Given the description of an element on the screen output the (x, y) to click on. 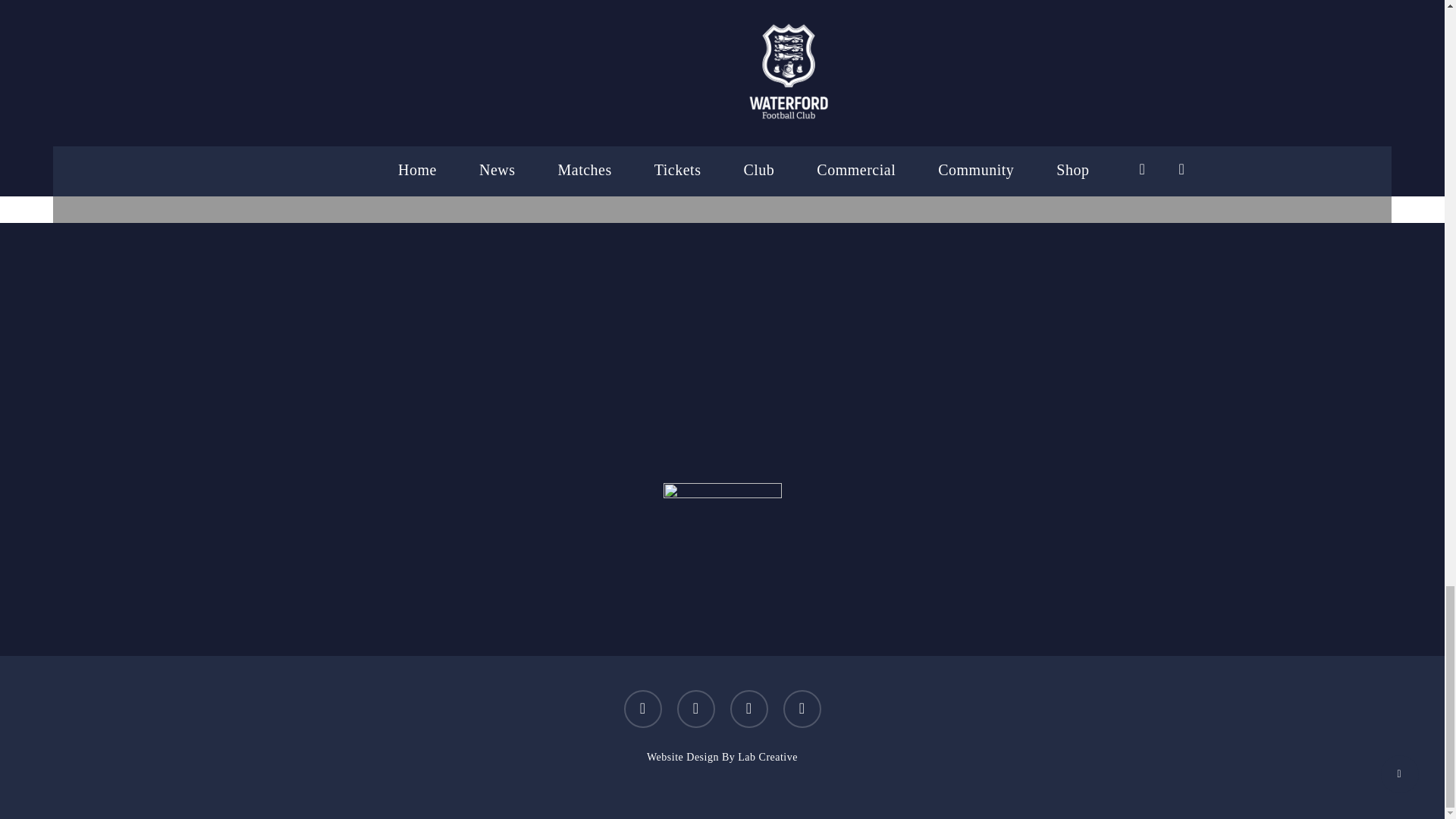
instagram (802, 709)
facebook (695, 709)
youtube (748, 709)
twitter (642, 709)
